Given the description of an element on the screen output the (x, y) to click on. 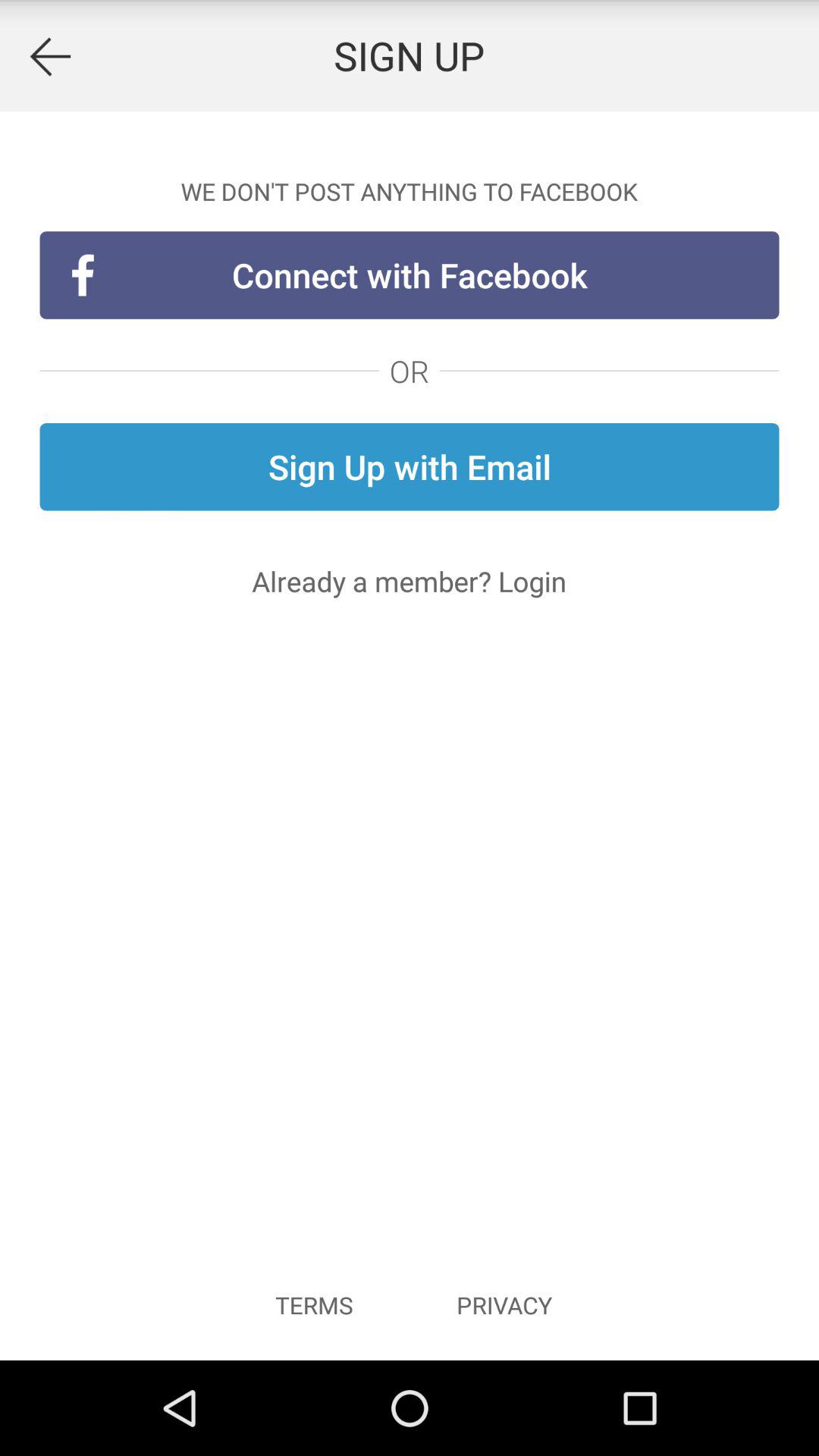
return to the previous screen (49, 55)
